Given the description of an element on the screen output the (x, y) to click on. 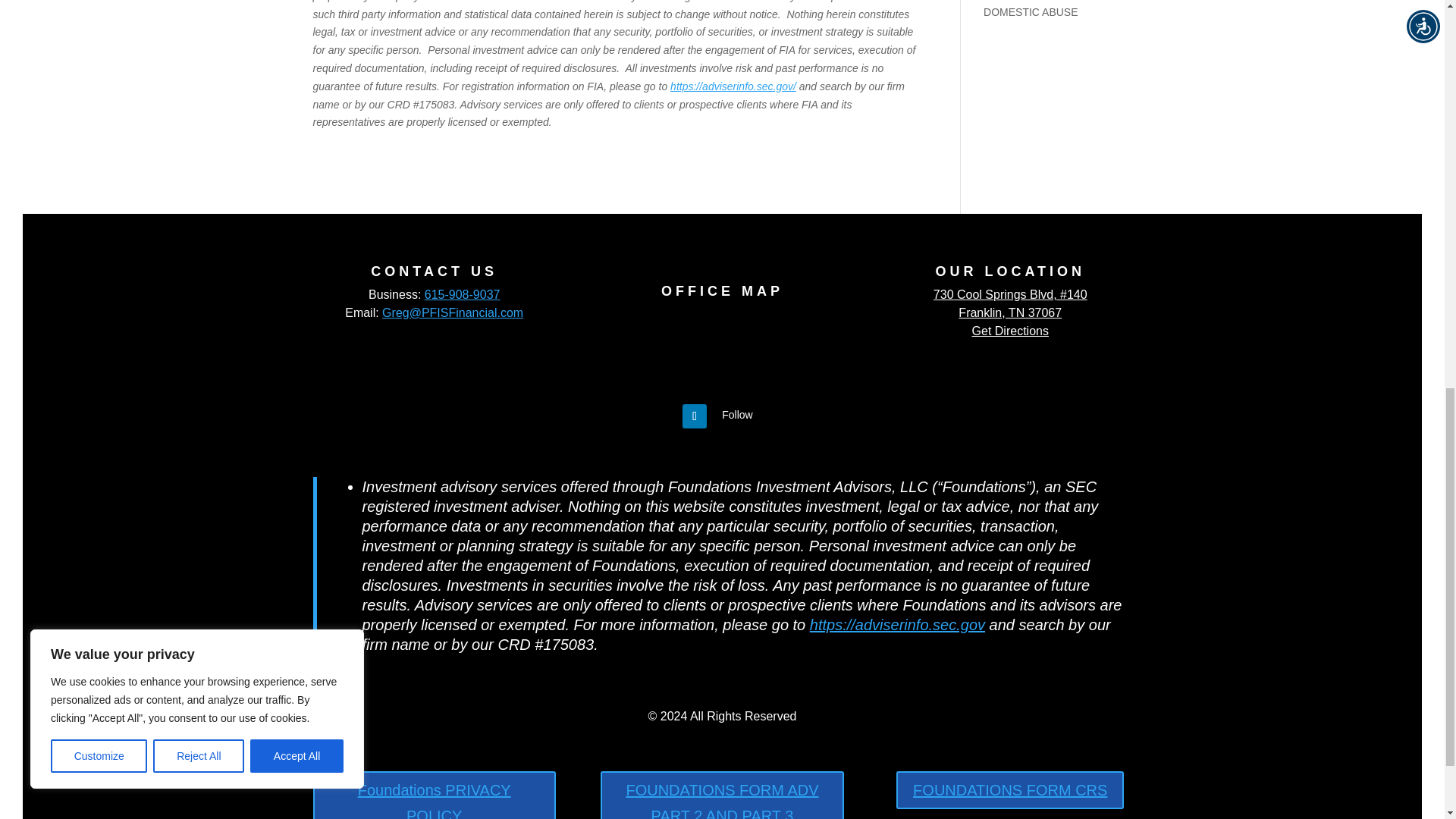
LinkedIn (737, 414)
Follow on LinkedIn (694, 415)
